Given the description of an element on the screen output the (x, y) to click on. 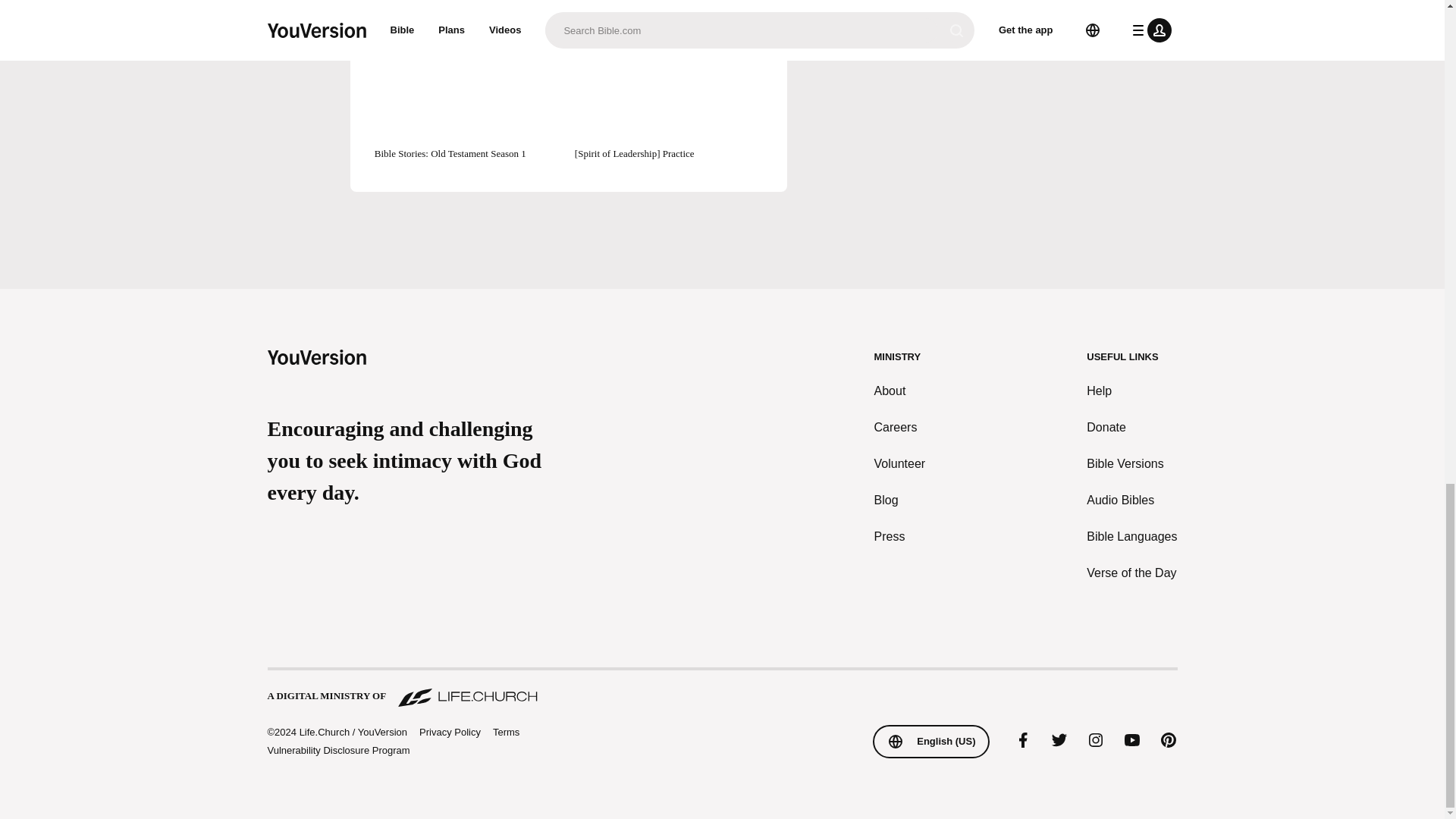
Careers (900, 427)
A Journey Through the Book of Joshua (468, 8)
Blog (900, 500)
Volunteer (900, 464)
Bible Languages (1131, 536)
Bible Stories: Old Testament Season 1 (468, 98)
Audio Bibles (1131, 500)
About (900, 391)
Year of the Bible: Part Four of Twelve (668, 8)
Donate (1131, 427)
Press (900, 536)
Bible Versions (1131, 464)
Help (1131, 391)
